Given the description of an element on the screen output the (x, y) to click on. 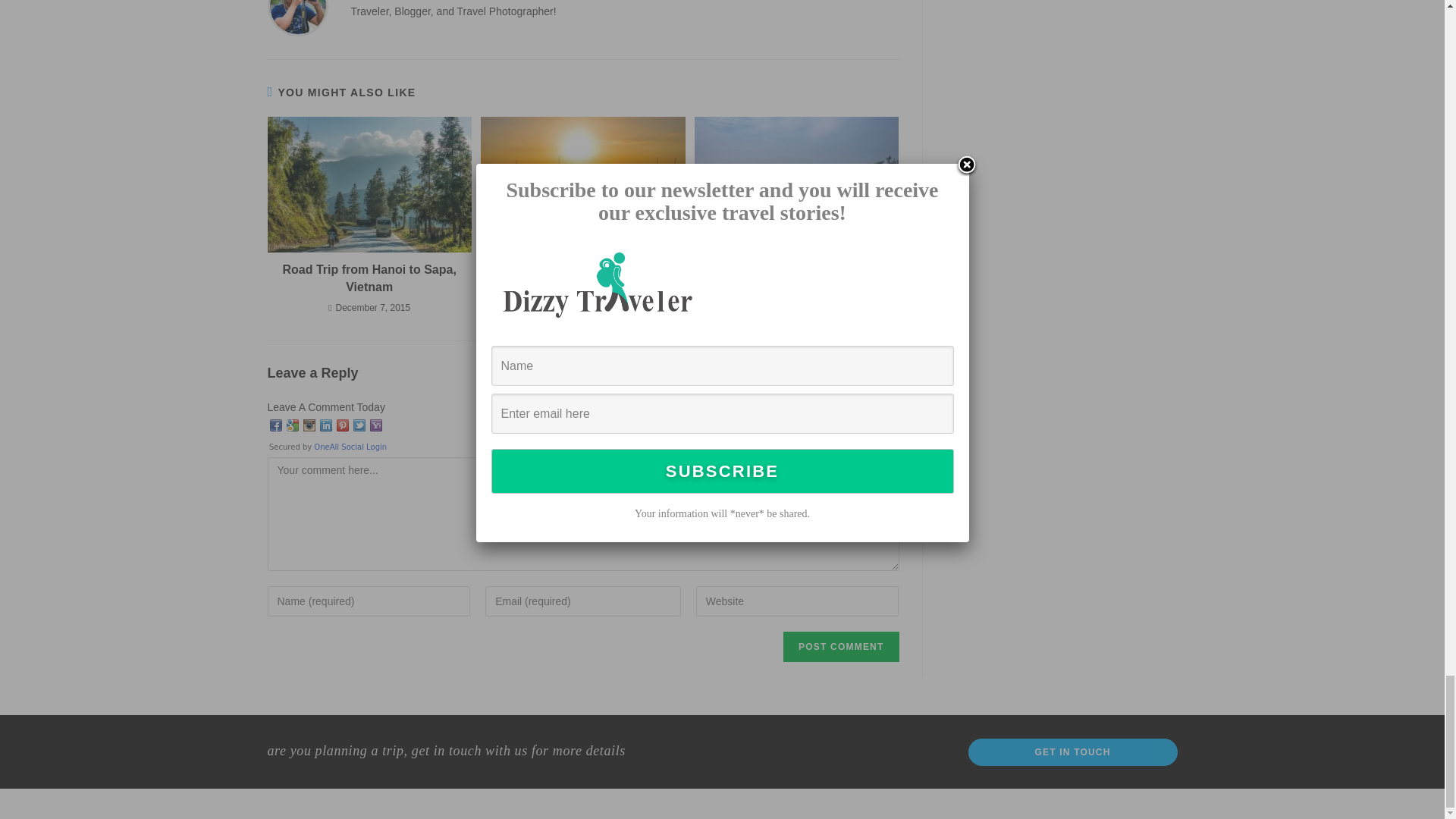
Post Comment (840, 646)
Login with Social Networks (582, 435)
Visit author page (296, 5)
